Given the description of an element on the screen output the (x, y) to click on. 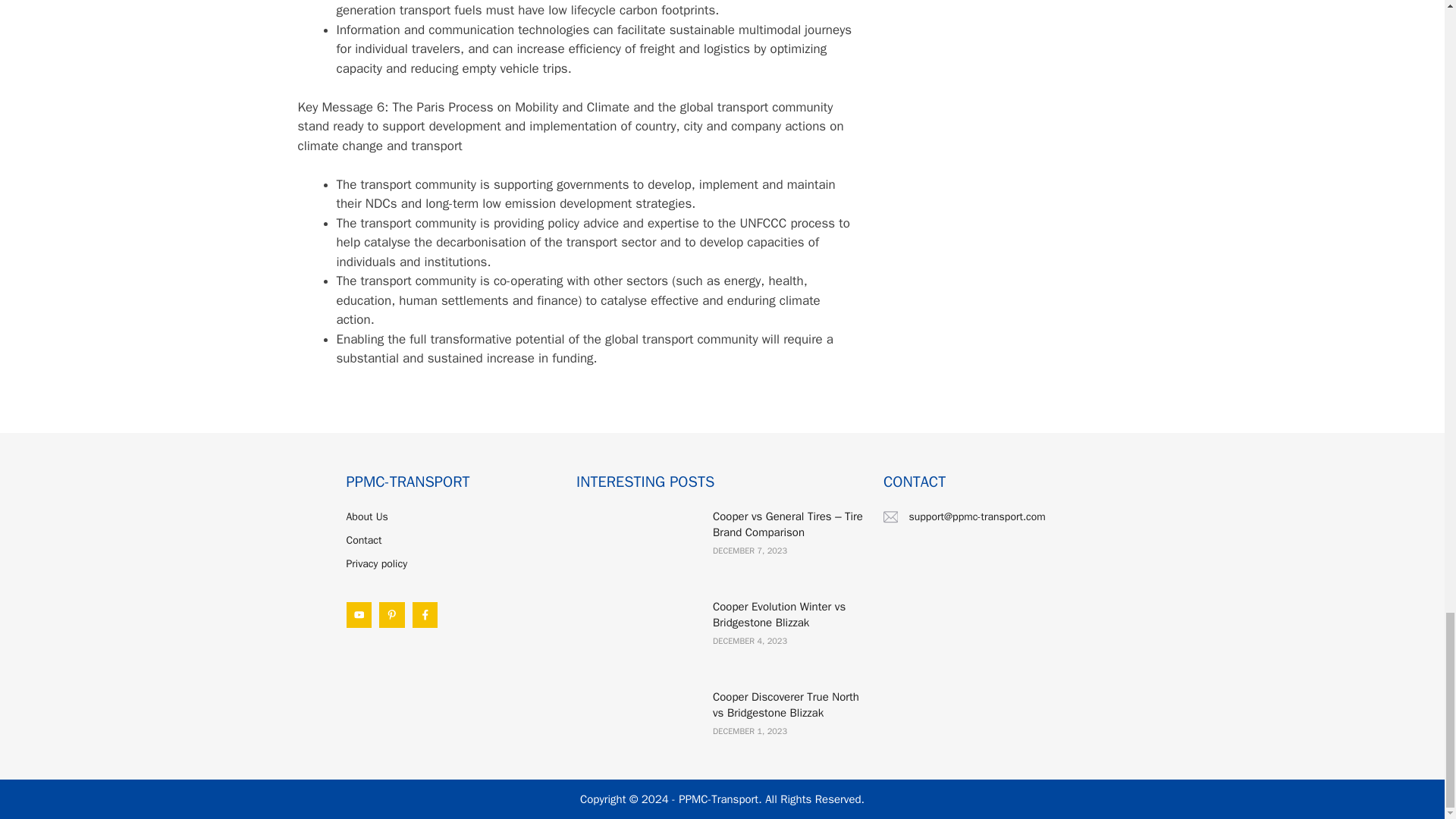
Cooper Evolution Winter vs Bridgestone Blizzak (779, 614)
Privacy policy (376, 563)
Contact (363, 540)
Cooper Discoverer True North vs Bridgestone Blizzak (786, 704)
About Us (366, 516)
